Given the description of an element on the screen output the (x, y) to click on. 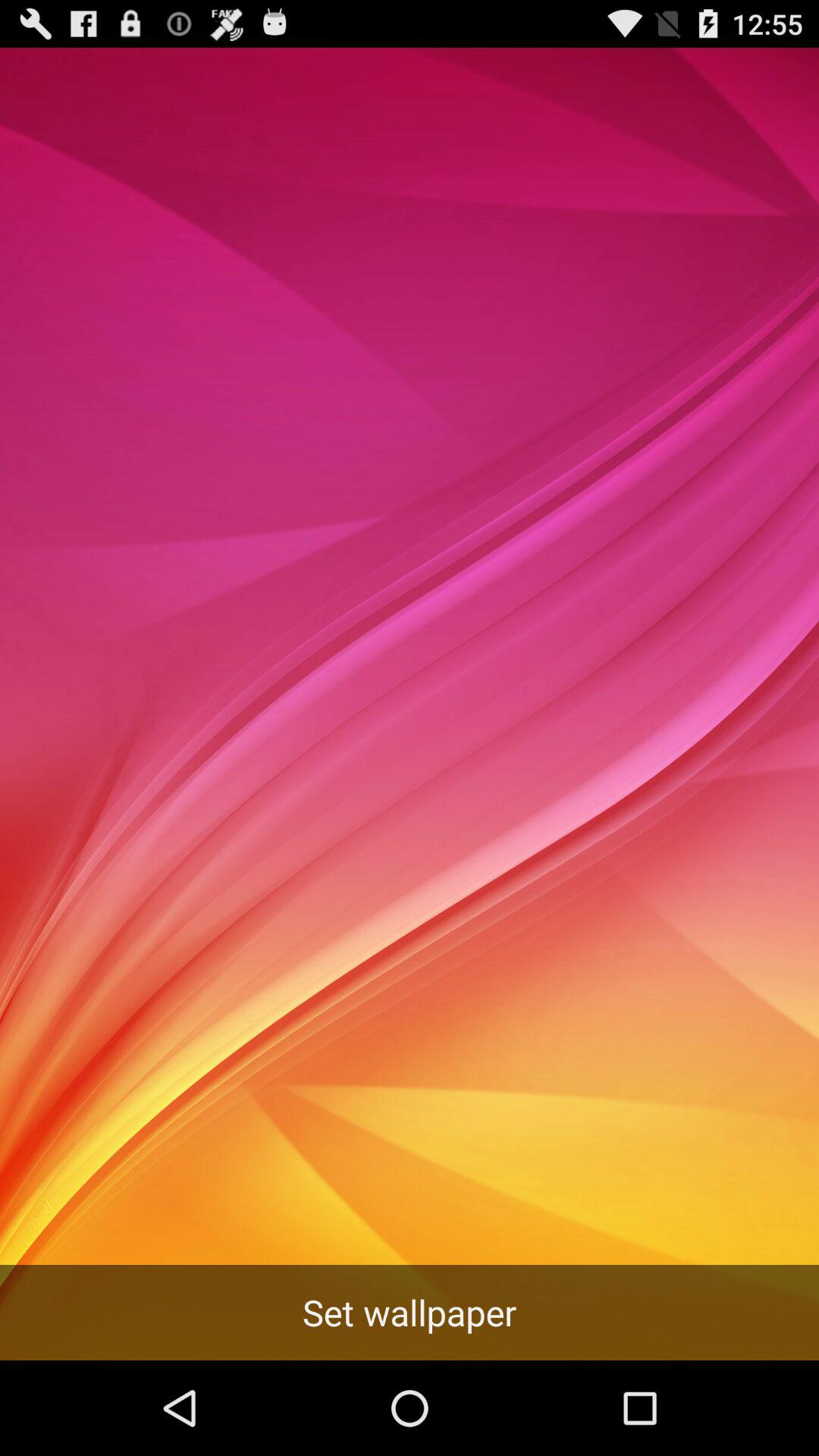
jump to set wallpaper icon (409, 1312)
